Given the description of an element on the screen output the (x, y) to click on. 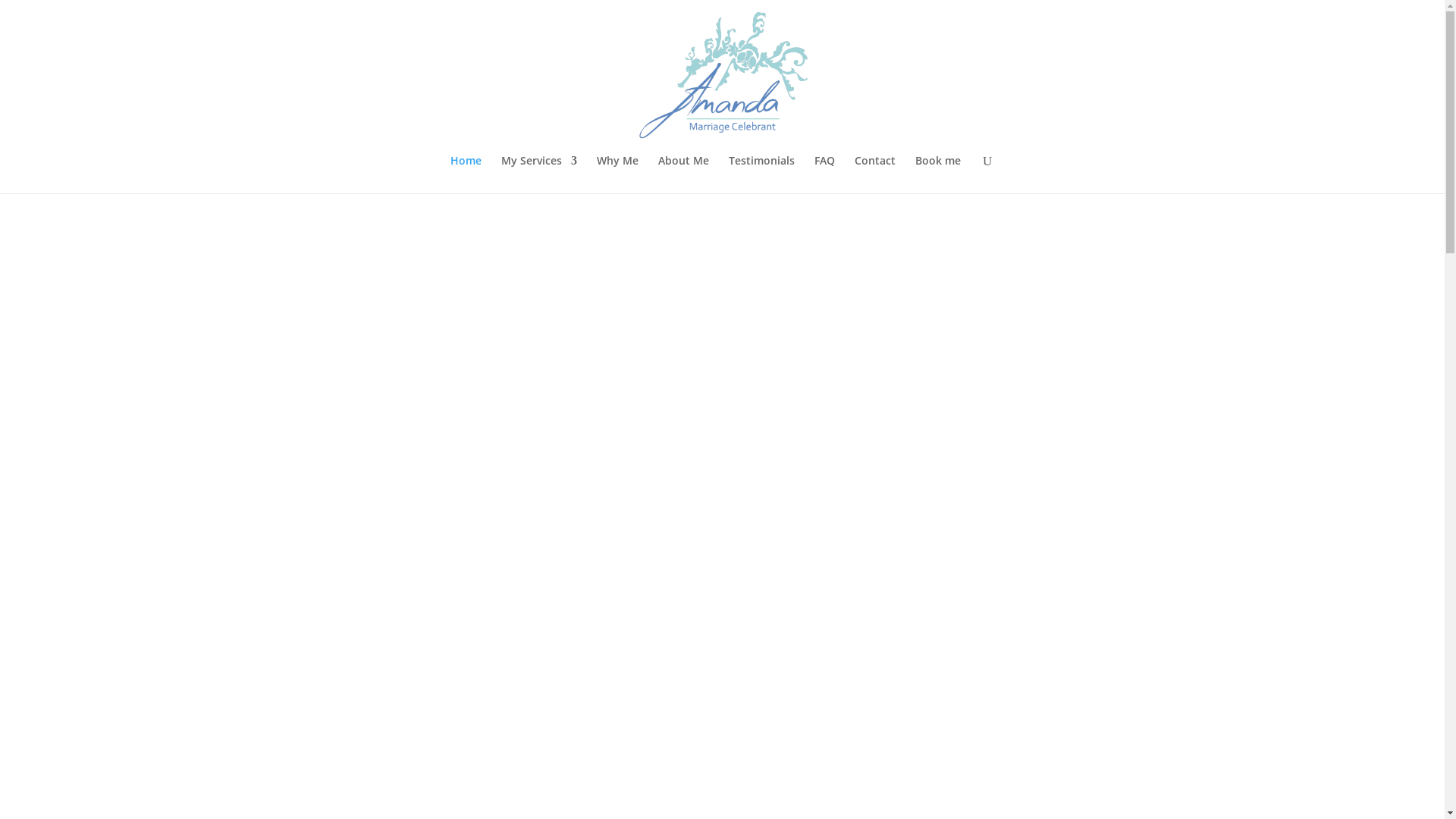
Book me Element type: text (937, 174)
FAQ Element type: text (824, 174)
Contact Element type: text (874, 174)
Why Me Element type: text (617, 174)
Home Element type: text (465, 174)
Testimonials Element type: text (761, 174)
About Me Element type: text (683, 174)
My Services Element type: text (539, 174)
